Given the description of an element on the screen output the (x, y) to click on. 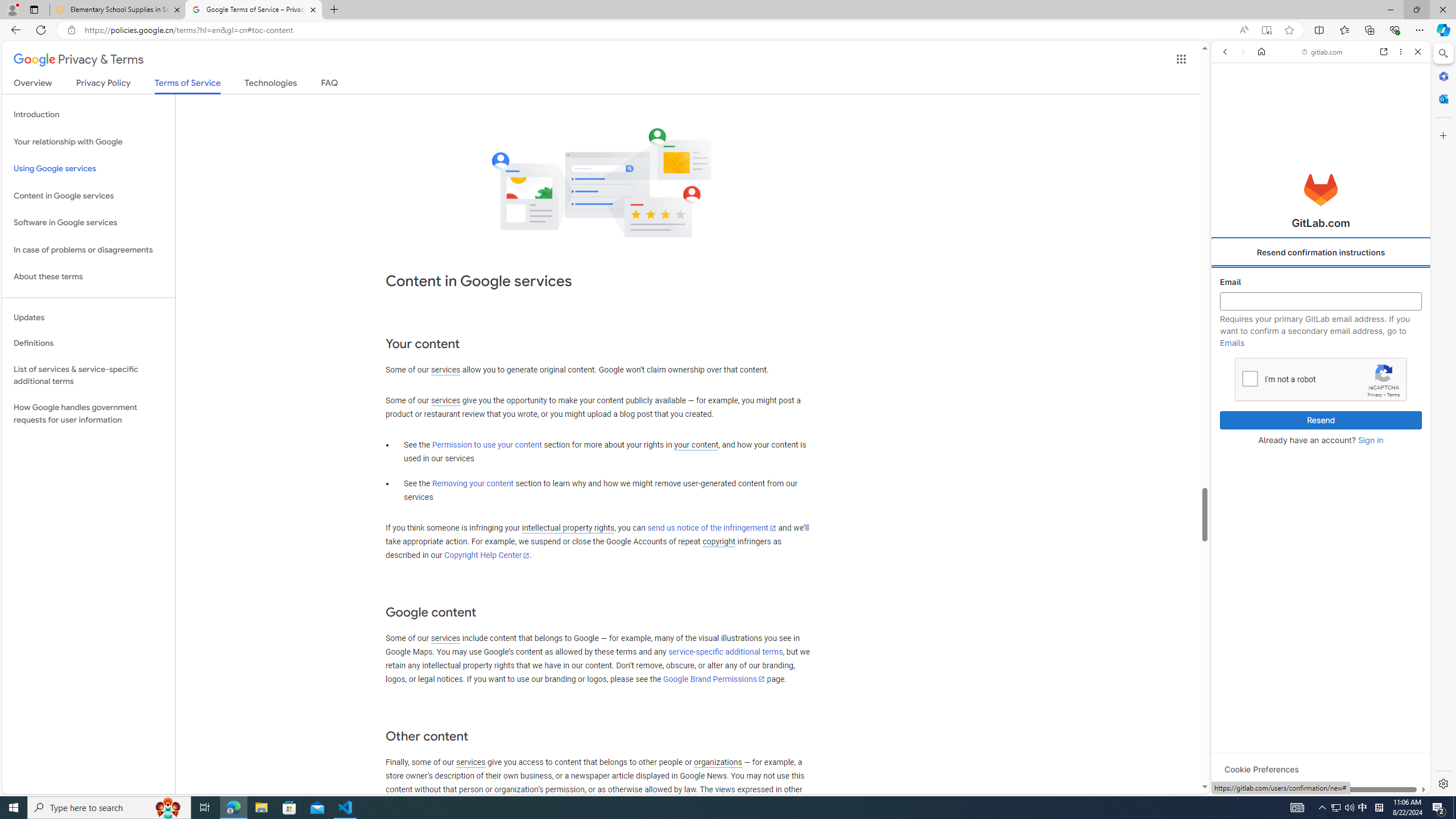
Refresh (40, 29)
New Tab (334, 9)
Login (1320, 281)
Microsoft 365 (1442, 76)
Favorites (1344, 29)
Close Search pane (1442, 53)
SEARCH TOOLS (1348, 130)
Preferences (1403, 129)
Sign in (1369, 439)
Search the web (1326, 78)
